Given the description of an element on the screen output the (x, y) to click on. 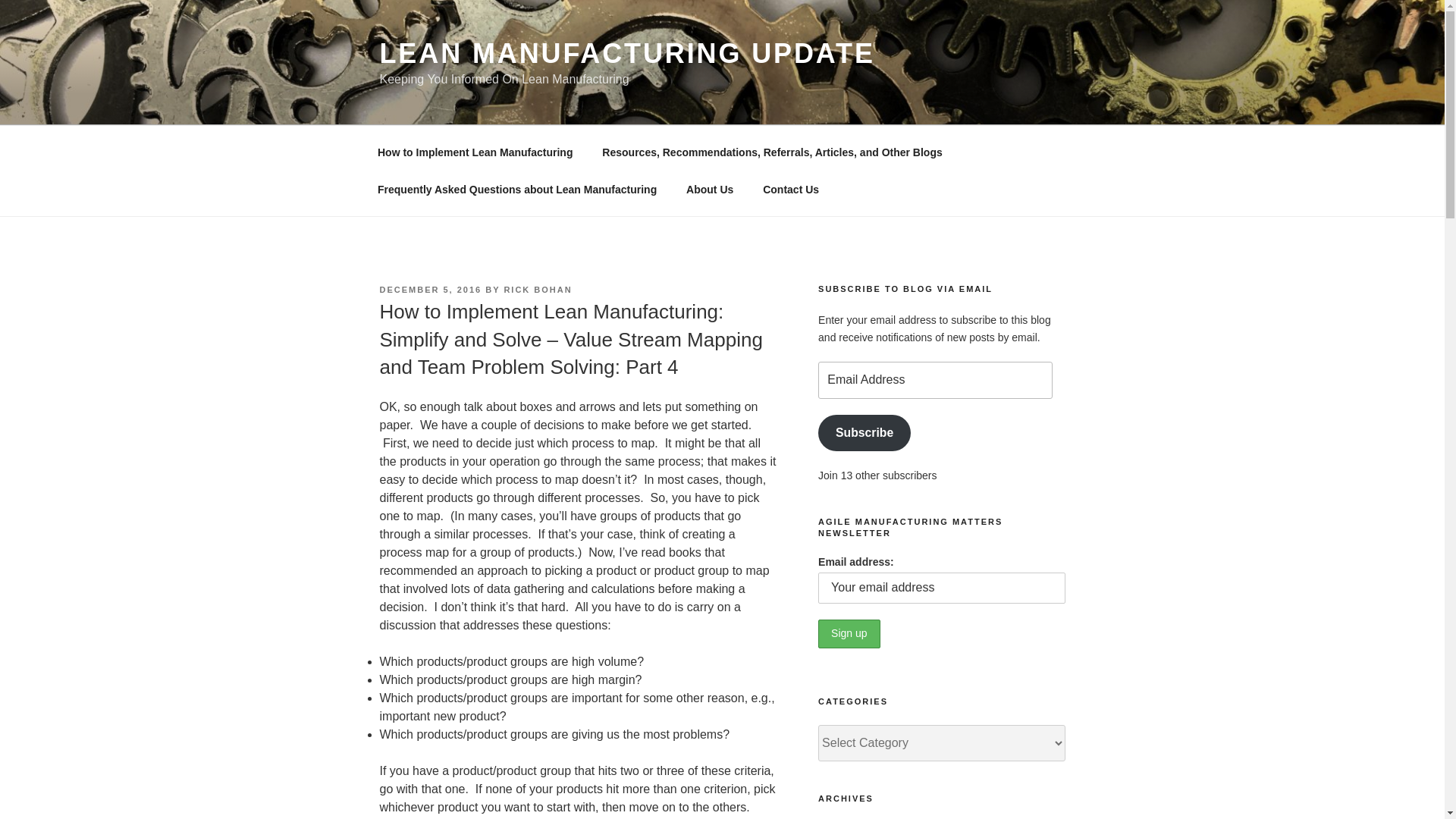
Frequently Asked Questions about Lean Manufacturing (516, 189)
Sign up (848, 633)
How to Implement Lean Manufacturing (474, 151)
LEAN MANUFACTURING UPDATE (626, 52)
Subscribe (864, 433)
RICK BOHAN (537, 289)
About Us (709, 189)
Sign up (848, 633)
DECEMBER 5, 2016 (429, 289)
Contact Us (790, 189)
